Given the description of an element on the screen output the (x, y) to click on. 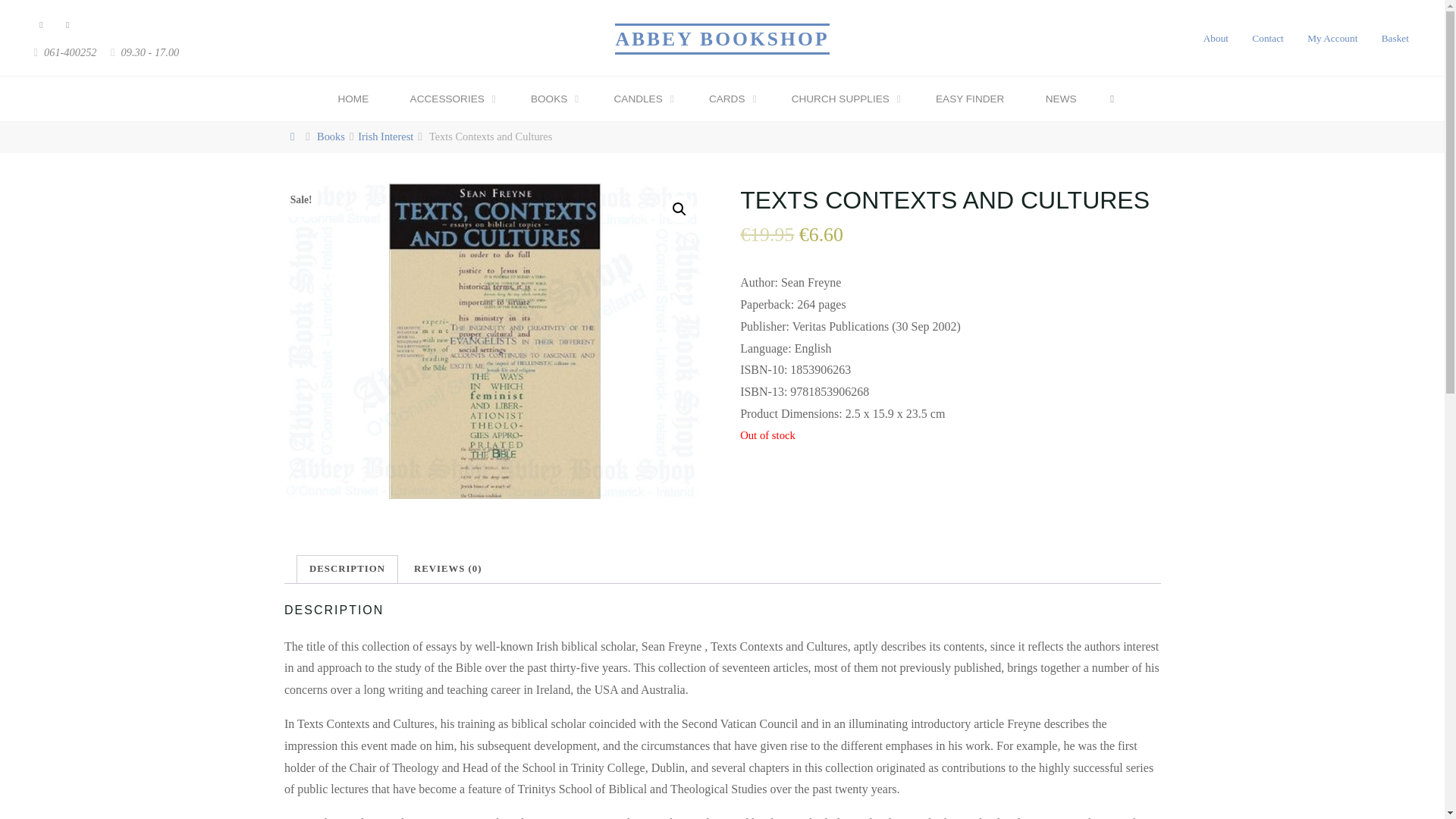
Home (293, 136)
ABBEY BOOKSHOP (721, 38)
Contact (1267, 38)
Twitter (67, 25)
Basket (1394, 38)
About (1215, 38)
Facebook (41, 25)
My Account (1331, 38)
9781853906268 (493, 340)
